Given the description of an element on the screen output the (x, y) to click on. 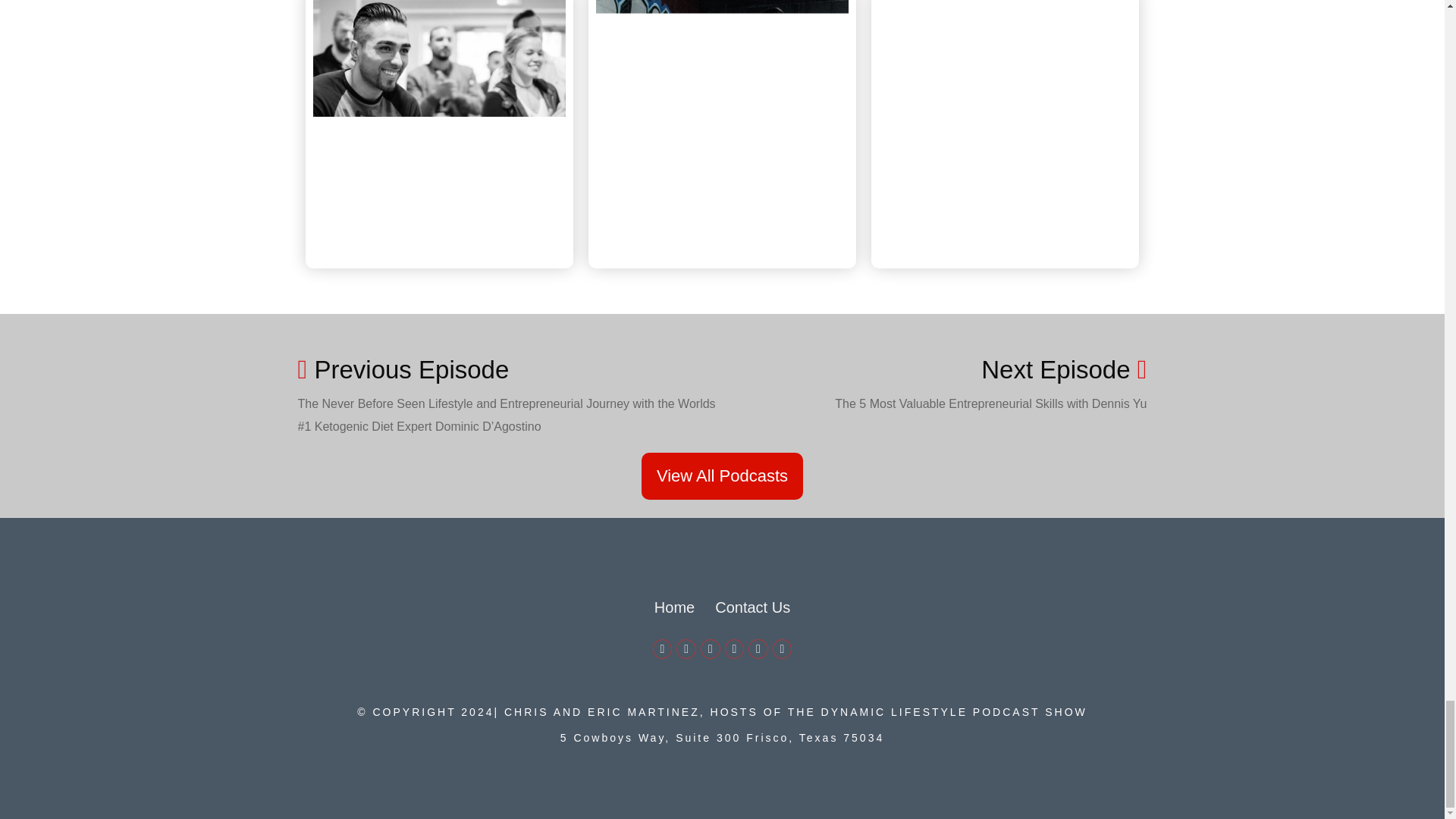
Next Episode (1064, 369)
Linkedin-in (710, 649)
Soundcloud (782, 649)
Youtube (734, 649)
Twitter (686, 649)
Home (673, 607)
Instagram (758, 649)
View All Podcasts (722, 475)
Contact Us (752, 607)
Previous Episode (509, 369)
